Given the description of an element on the screen output the (x, y) to click on. 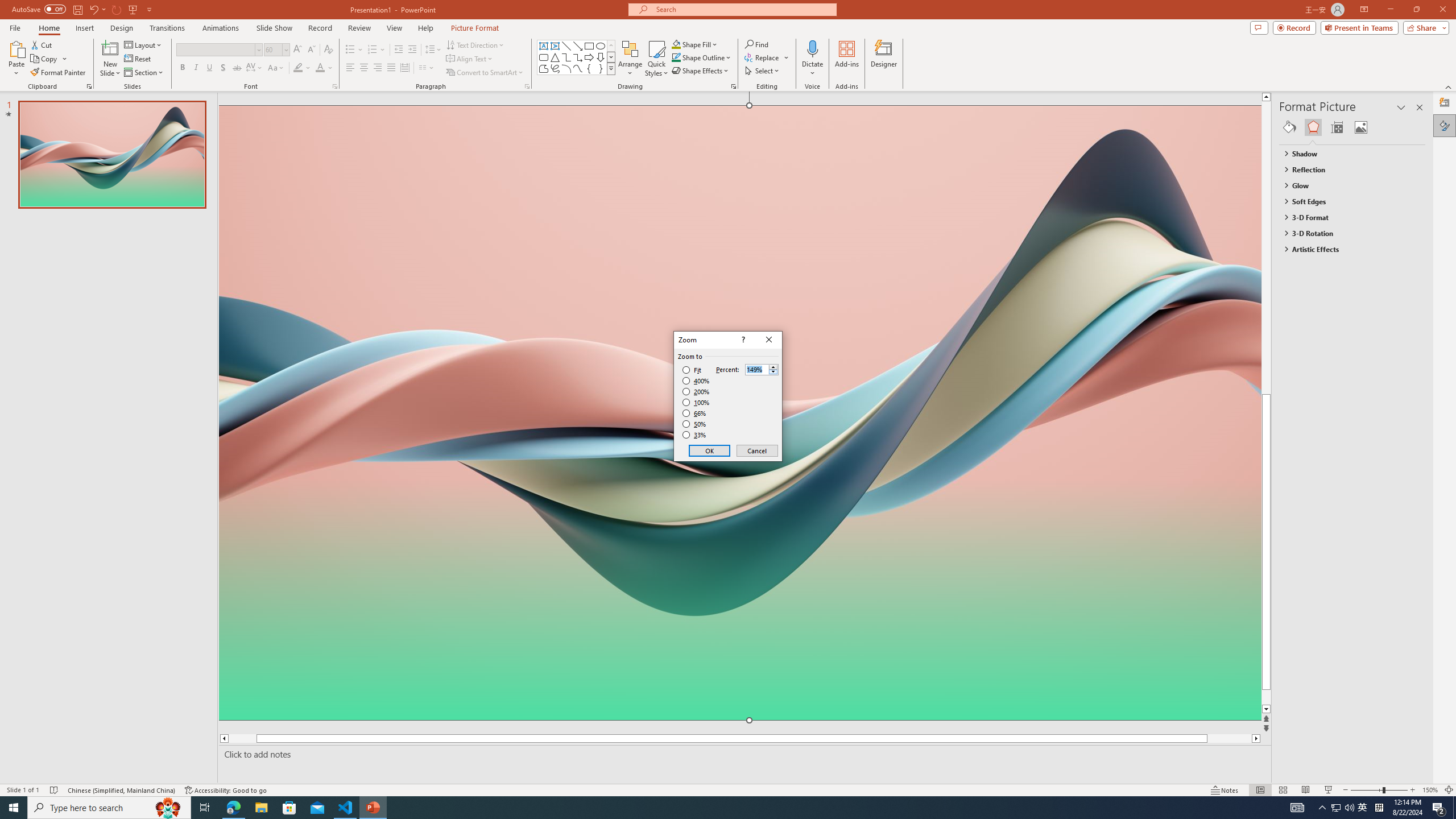
Reflection (1347, 169)
